Given the description of an element on the screen output the (x, y) to click on. 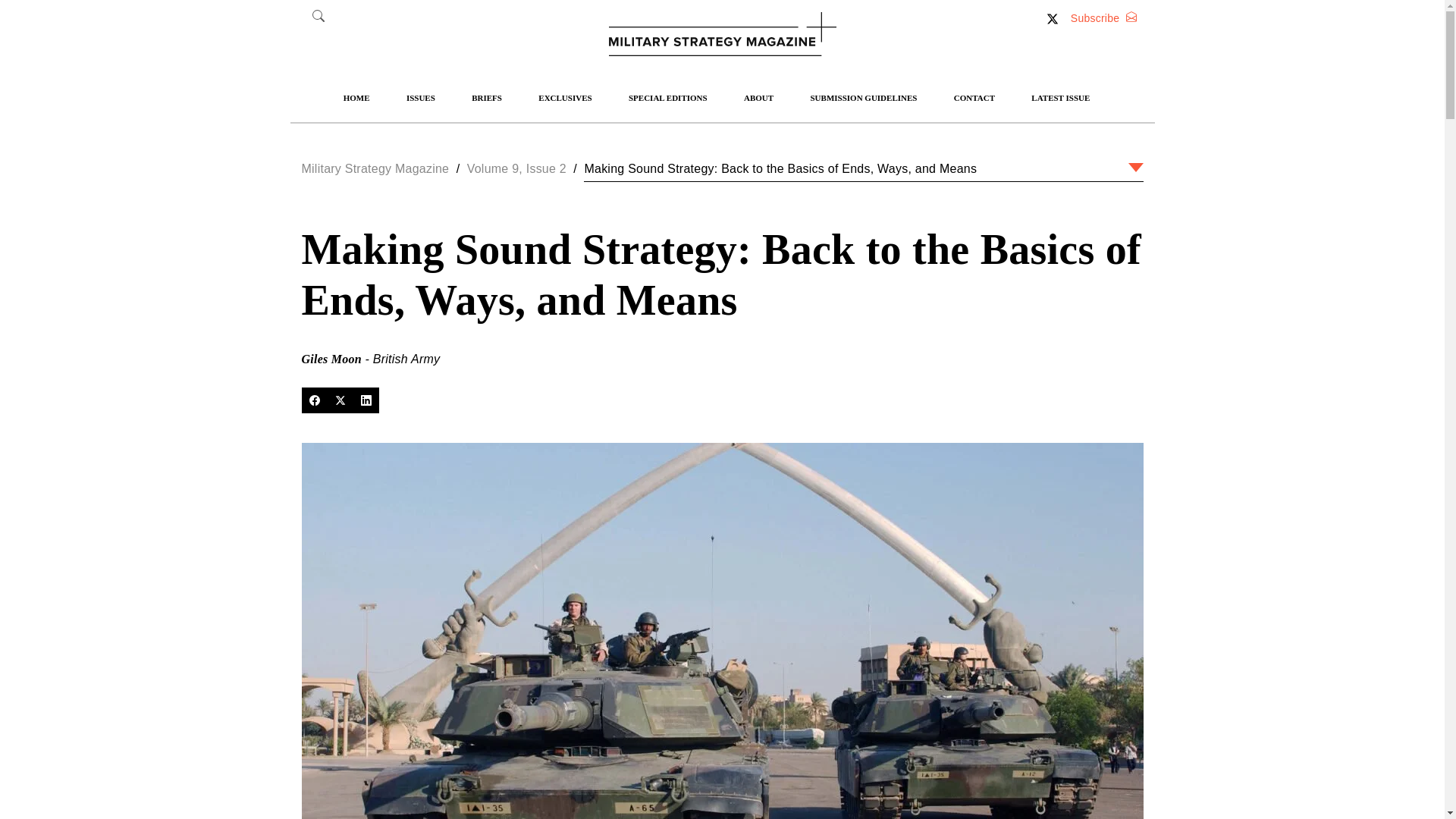
BRIEFS (486, 97)
Volume 9, Issue 2 (516, 168)
Subscribe  (1103, 18)
EXCLUSIVES (564, 97)
LATEST ISSUE (1060, 97)
CONTACT (974, 97)
HOME (356, 97)
ISSUES (420, 97)
SPECIAL EDITIONS (668, 97)
Military Strategy Magazine (375, 168)
SUBMISSION GUIDELINES (863, 97)
ABOUT (758, 97)
